Given the description of an element on the screen output the (x, y) to click on. 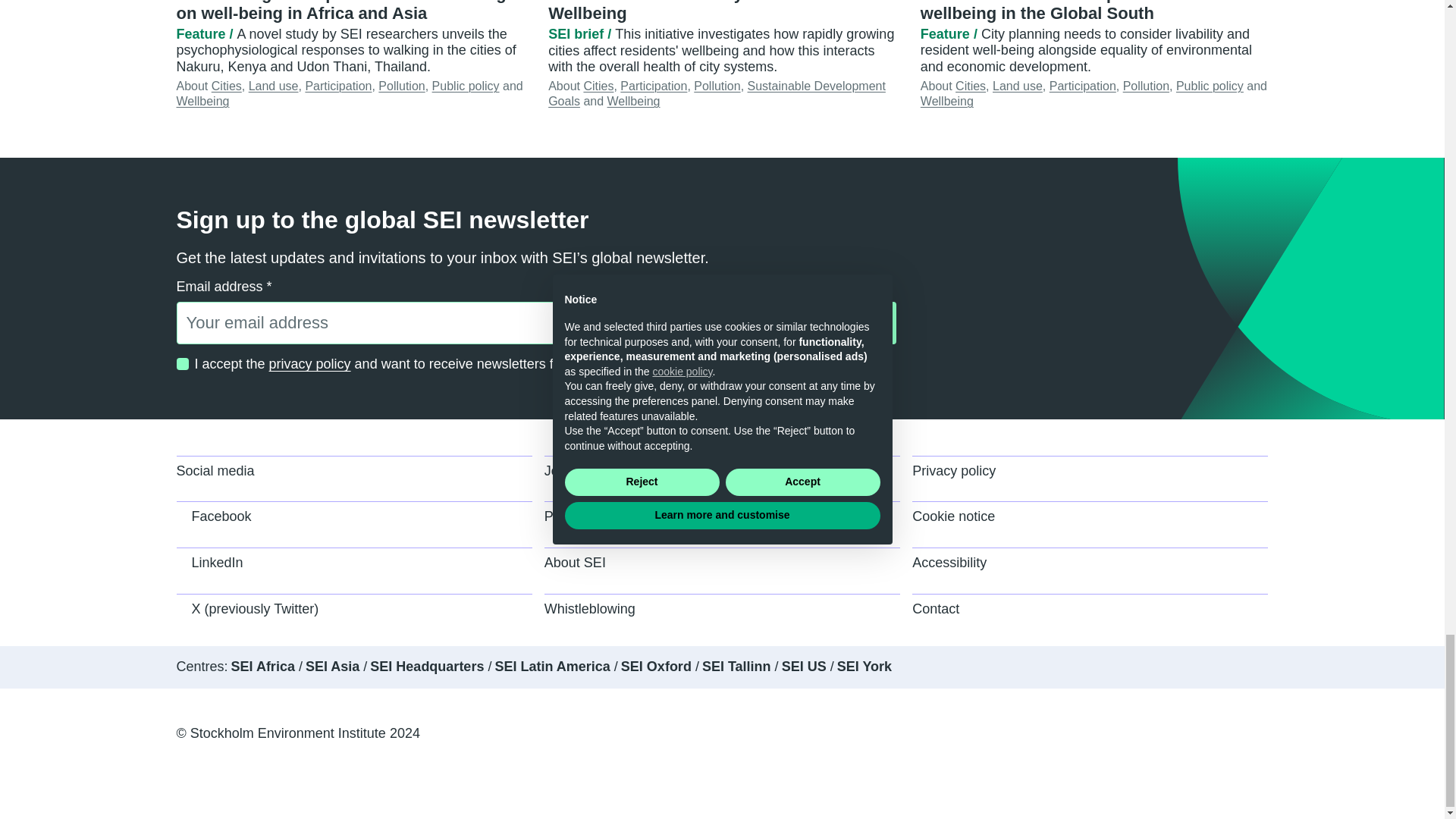
Visit SEI on LinkedIn (353, 570)
View our social media page (353, 478)
Subscribe (840, 322)
Visit SEI on Facebook (353, 524)
